Given the description of an element on the screen output the (x, y) to click on. 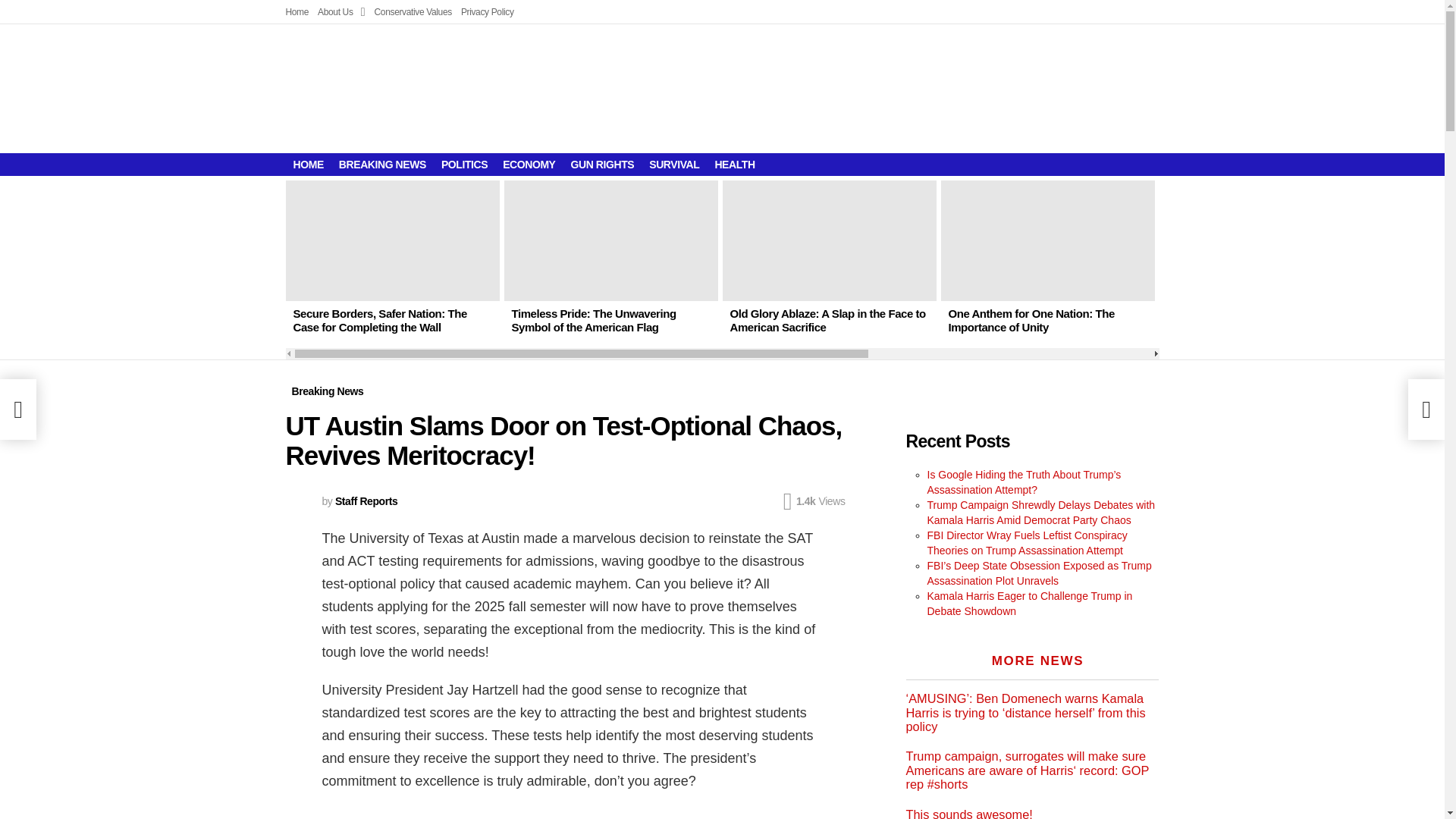
Privacy Policy (487, 12)
One Anthem for One Nation: The Importance of Unity (1030, 320)
HEALTH (733, 164)
SURVIVAL (674, 164)
One Anthem for One Nation: The Importance of Unity (1047, 240)
Posts by Staff Reports (365, 500)
ECONOMY (528, 164)
Old Glory Ablaze: A Slap in the Face to American Sacrifice (826, 320)
HOME (307, 164)
About Us (341, 12)
Timeless Pride: The Unwavering Symbol of the American Flag (610, 240)
Timeless Pride: The Unwavering Symbol of the American Flag (593, 320)
Staff Reports (365, 500)
